Given the description of an element on the screen output the (x, y) to click on. 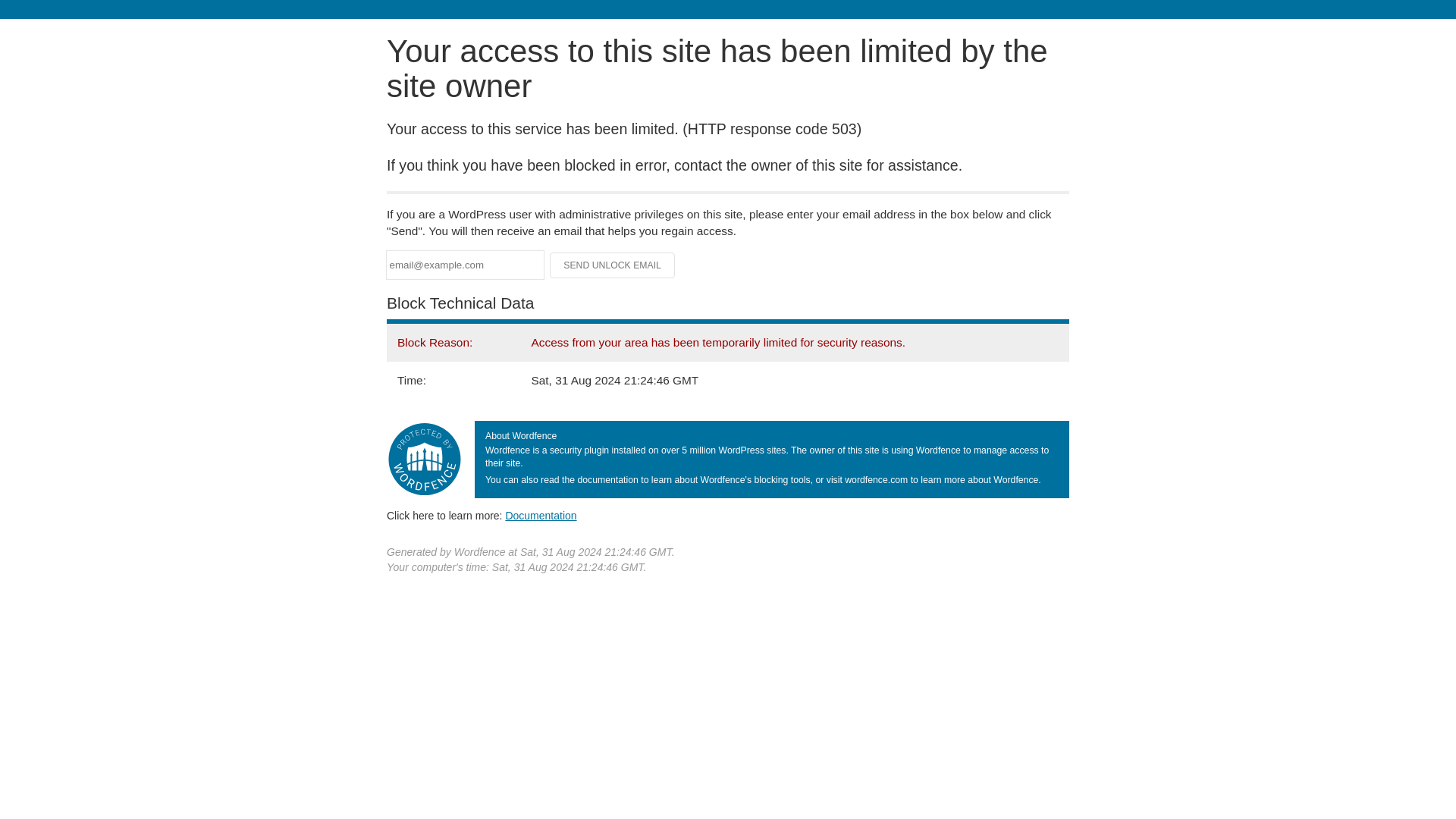
Documentation (540, 515)
Send Unlock Email (612, 265)
Send Unlock Email (612, 265)
